Given the description of an element on the screen output the (x, y) to click on. 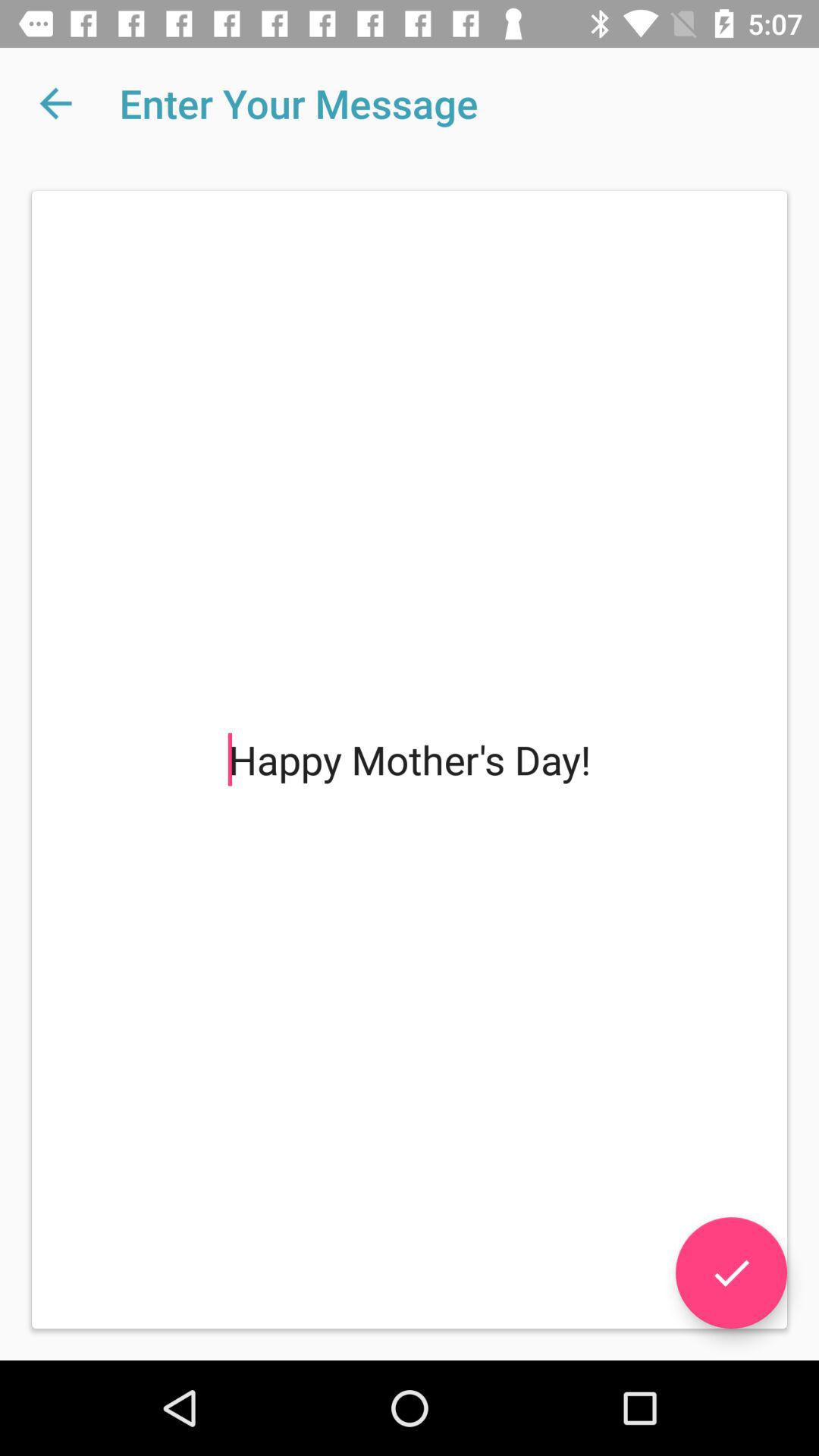
turn on the happy mother s at the center (409, 759)
